Given the description of an element on the screen output the (x, y) to click on. 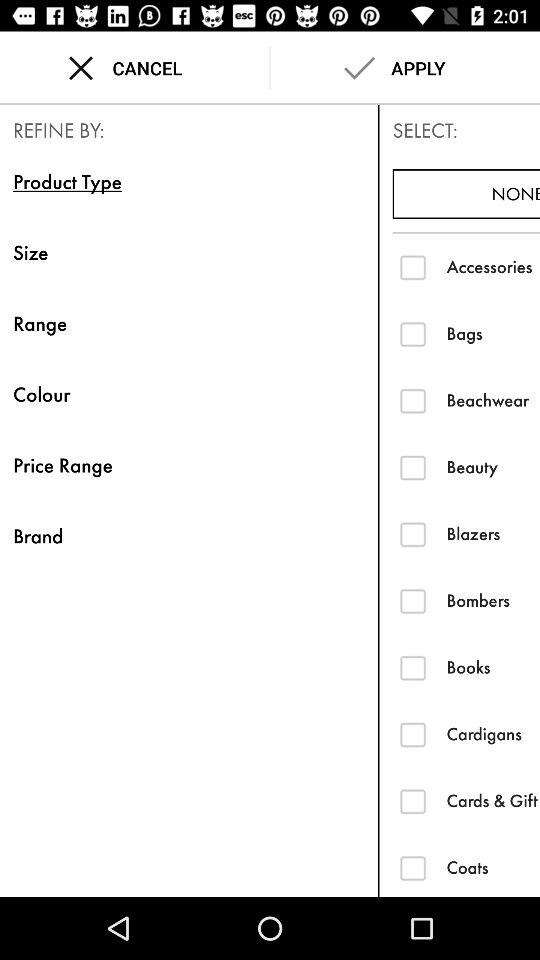
select the icon above blazers (493, 466)
